Given the description of an element on the screen output the (x, y) to click on. 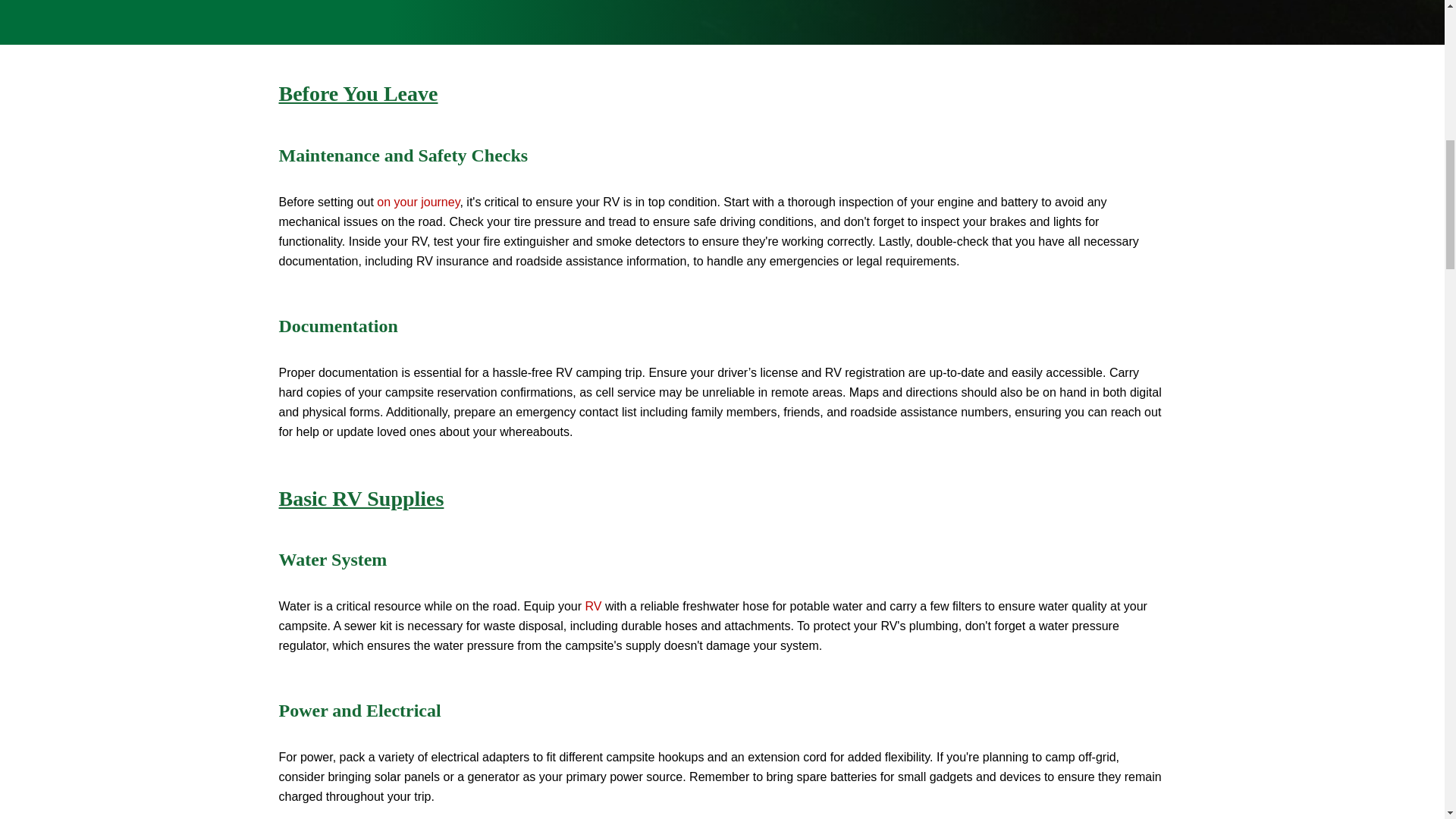
RV (593, 605)
Motorhomes for Sale (593, 605)
on your journey (418, 201)
